Given the description of an element on the screen output the (x, y) to click on. 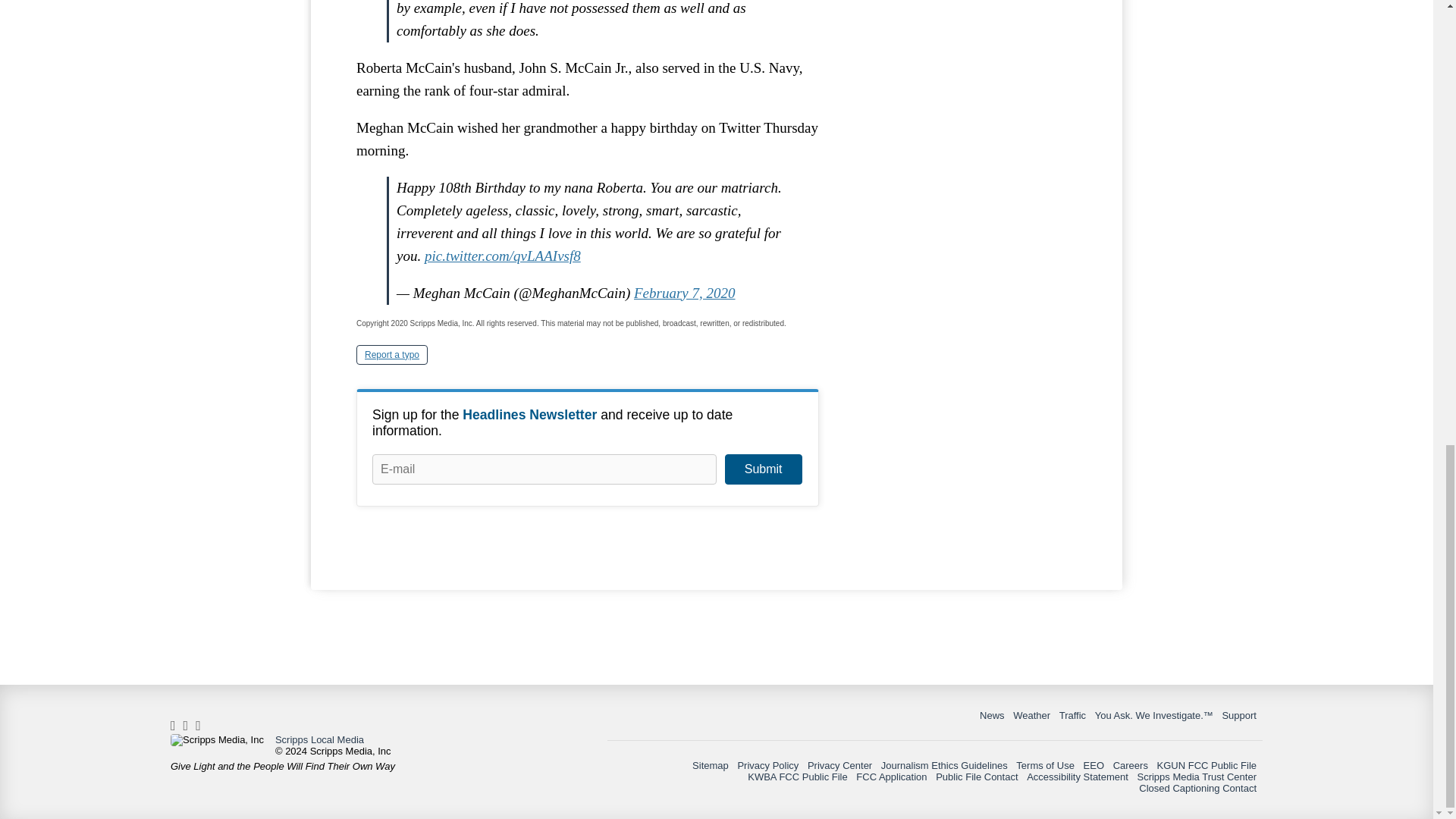
Submit (763, 469)
